Given the description of an element on the screen output the (x, y) to click on. 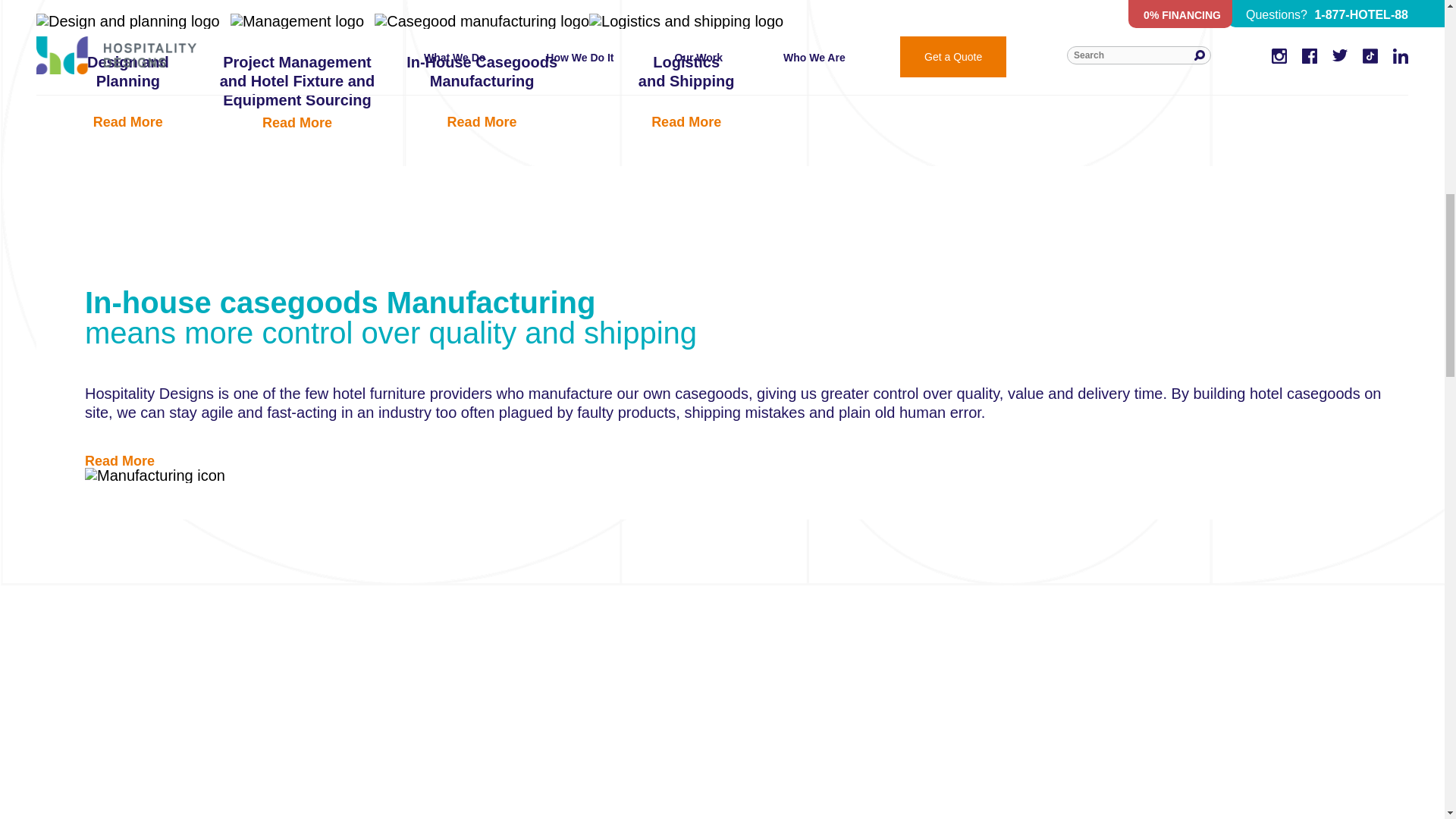
Read More (119, 460)
